Given the description of an element on the screen output the (x, y) to click on. 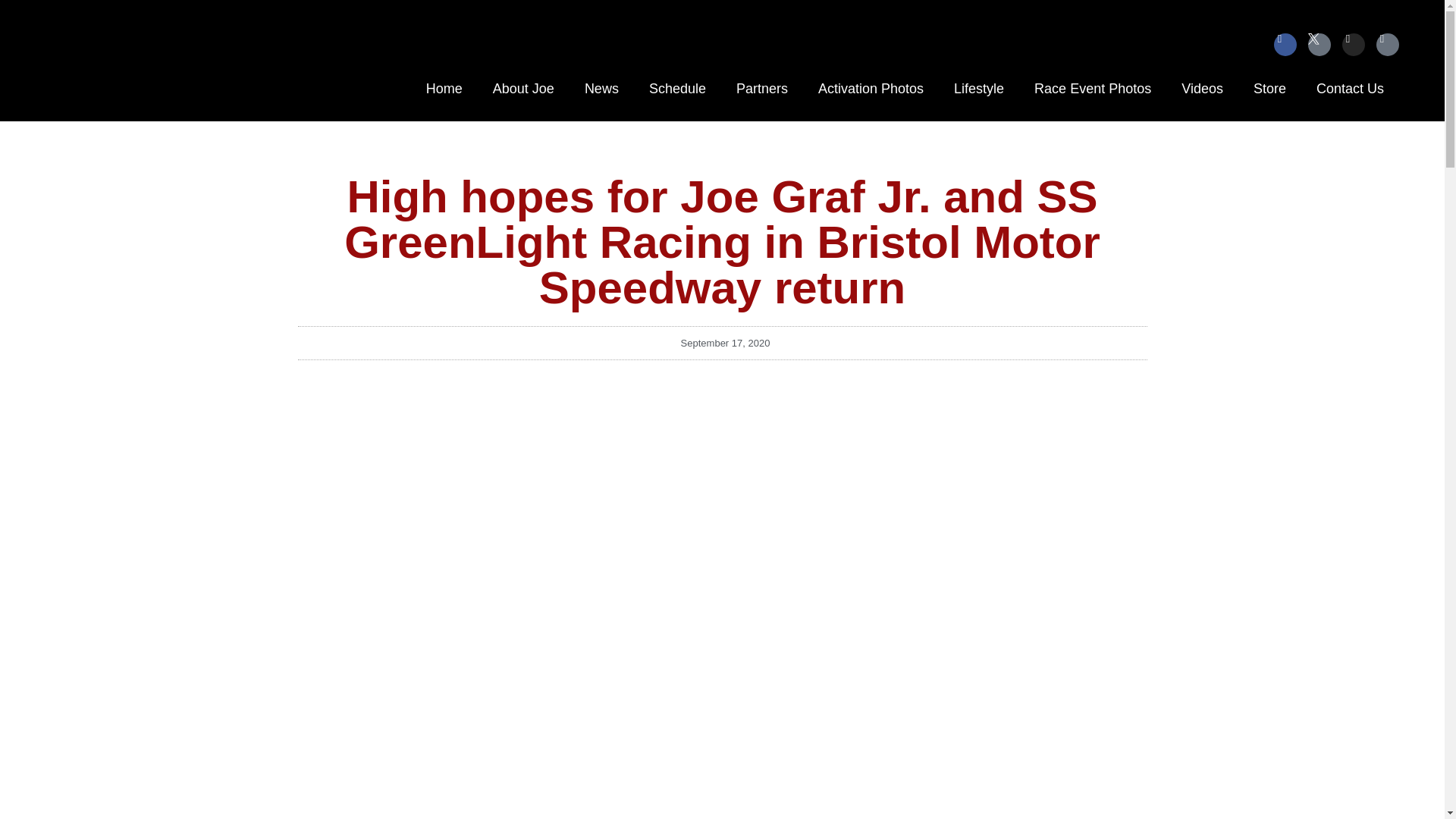
Schedule (676, 88)
Home (443, 88)
Store (1270, 88)
Race Event Photos (1092, 88)
Activation Photos (871, 88)
News (601, 88)
Partners (761, 88)
Contact Us (1350, 88)
About Joe (523, 88)
Videos (1202, 88)
Lifestyle (979, 88)
